Given the description of an element on the screen output the (x, y) to click on. 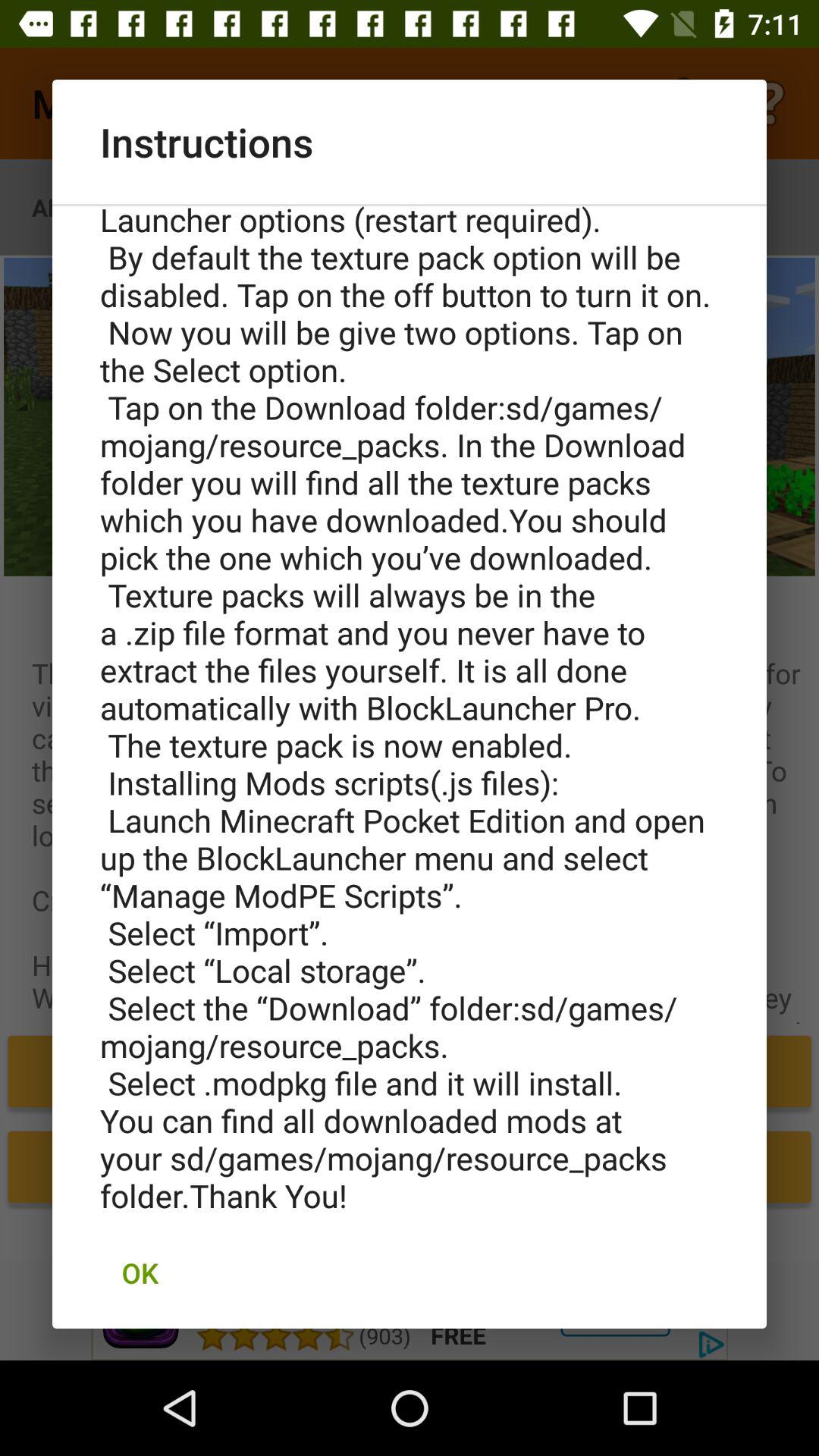
open ok at the bottom left corner (139, 1272)
